Given the description of an element on the screen output the (x, y) to click on. 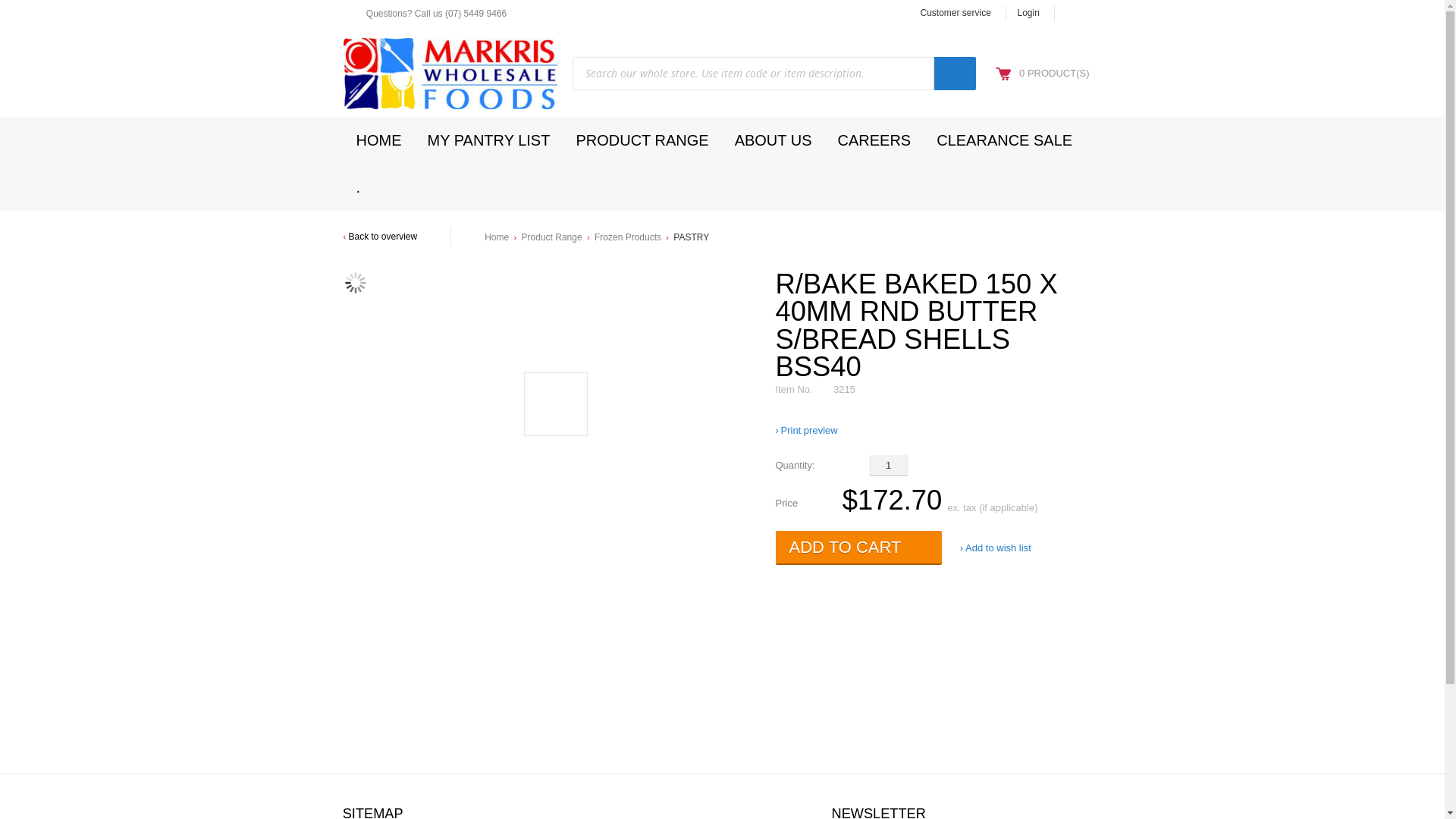
Print preview Element type: text (806, 430)
Login Element type: text (1028, 12)
HOME Element type: text (378, 139)
0 PRODUCT(S) Element type: text (1053, 72)
Product Range Element type: text (551, 237)
R/BAKE BAKED 150 X 40MM RND BUTTER S/BREAD SHELLS BSS40 Element type: hover (555, 403)
Home Element type: text (496, 237)
CAREERS Element type: text (874, 139)
Customer service Element type: text (955, 12)
Frozen Products Element type: text (627, 237)
Back to overview Element type: text (379, 236)
. Element type: text (357, 186)
ADD TO CART Element type: text (858, 547)
ABOUT US Element type: text (773, 139)
Add to wish list Element type: text (995, 548)
MY PANTRY LIST Element type: text (488, 139)
PASTRY Element type: text (691, 237)
CLEARANCE SALE Element type: text (1004, 139)
PRODUCT RANGE Element type: text (641, 139)
Search products Element type: hover (954, 73)
R/BAKE BAKED 150 X 40MM RND BUTTER S/BREAD SHELLS BSS40 Element type: hover (354, 282)
